Given the description of an element on the screen output the (x, y) to click on. 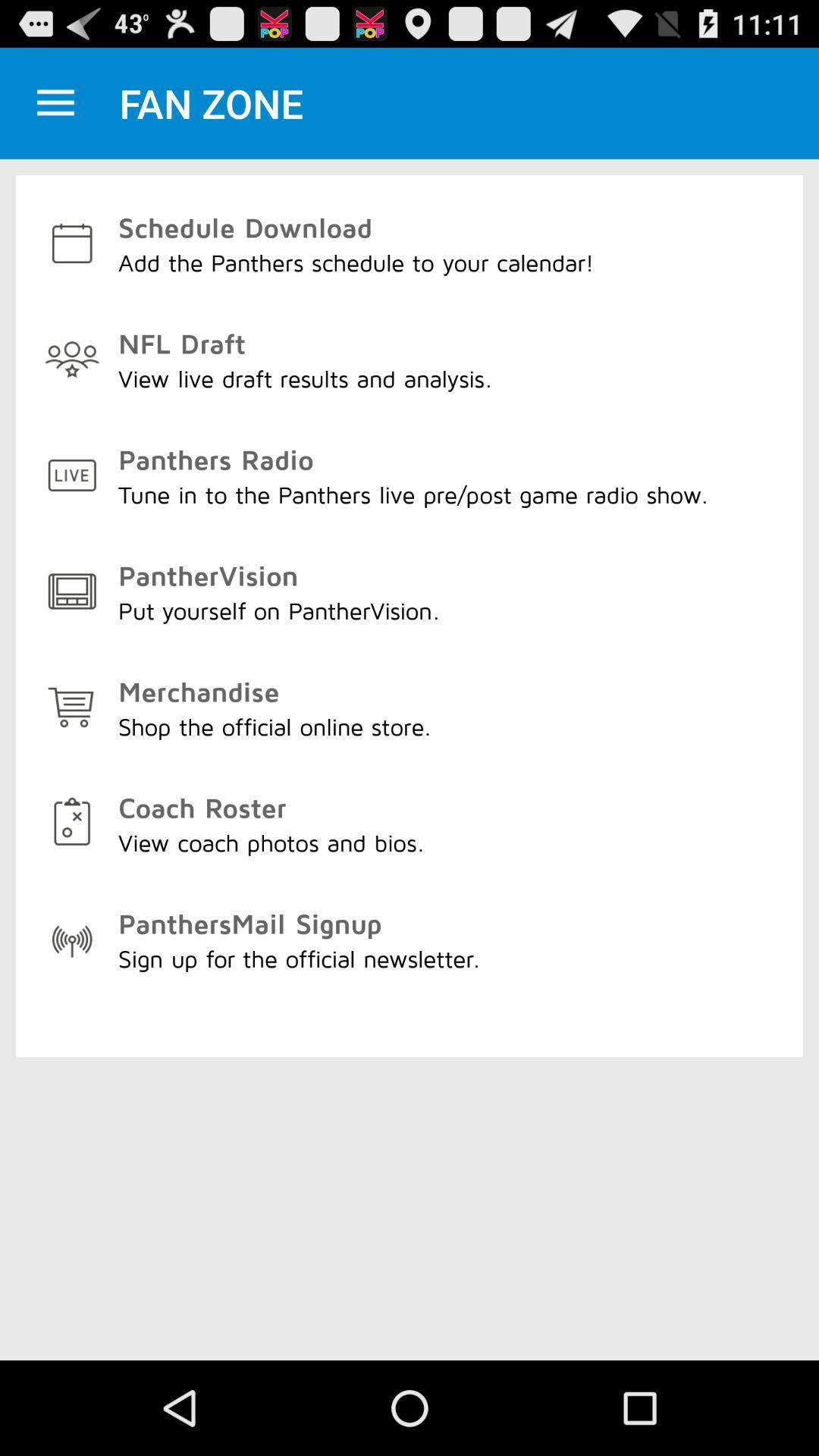
toggle autoplay option (55, 103)
